Given the description of an element on the screen output the (x, y) to click on. 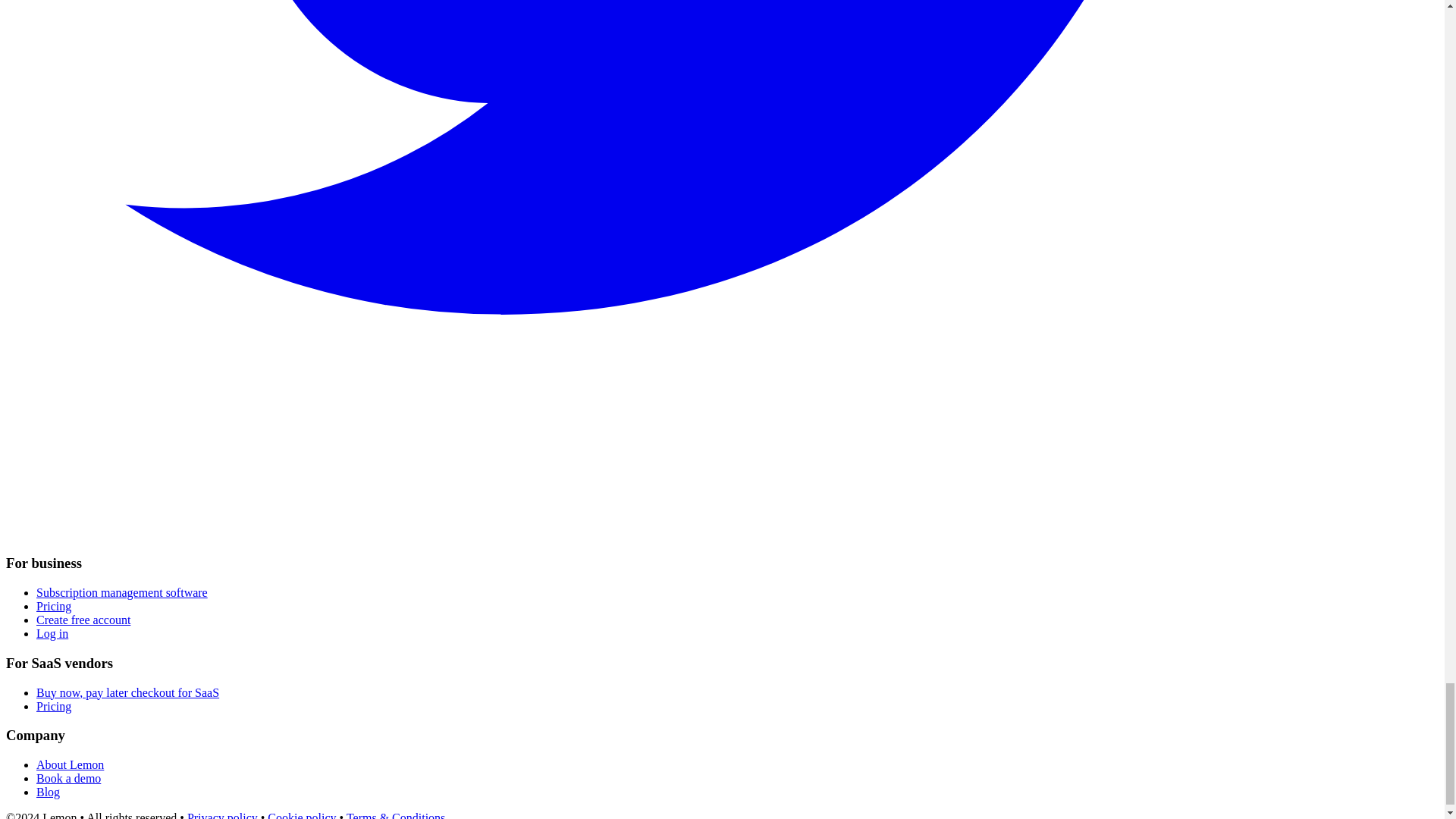
Subscription management software (122, 592)
Create free account (83, 619)
Book a demo (68, 778)
Pricing (53, 605)
Buy now, pay later checkout for SaaS (127, 692)
Pricing (53, 706)
Log in (52, 633)
Blog (47, 791)
About Lemon (69, 764)
